Given the description of an element on the screen output the (x, y) to click on. 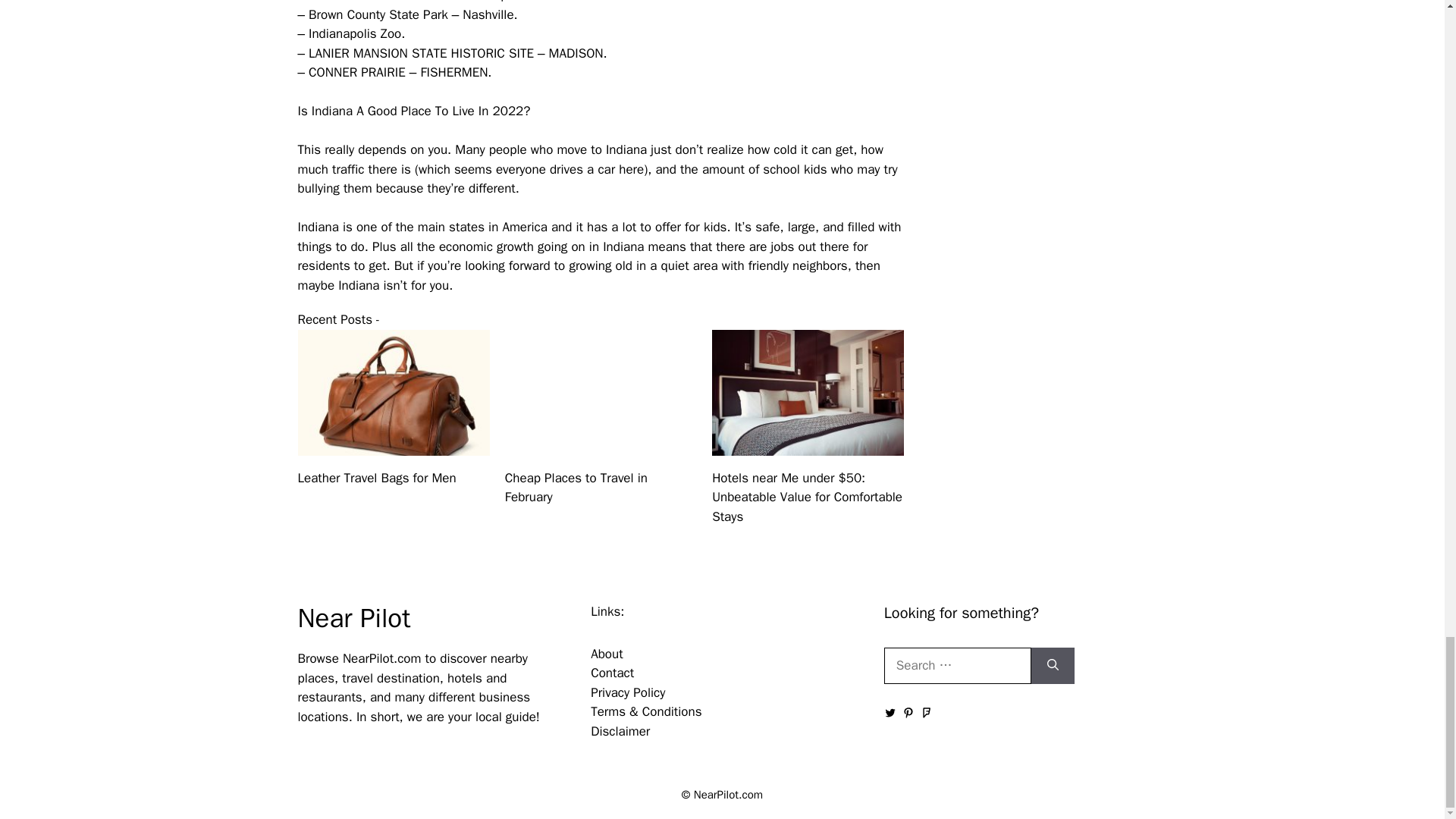
Cheap Places to Travel in February (576, 488)
Cheap Places to Travel in February (601, 445)
Leather Travel Bags for Men (393, 445)
Leather Travel Bags for Men (376, 478)
Search for: (956, 665)
